Given the description of an element on the screen output the (x, y) to click on. 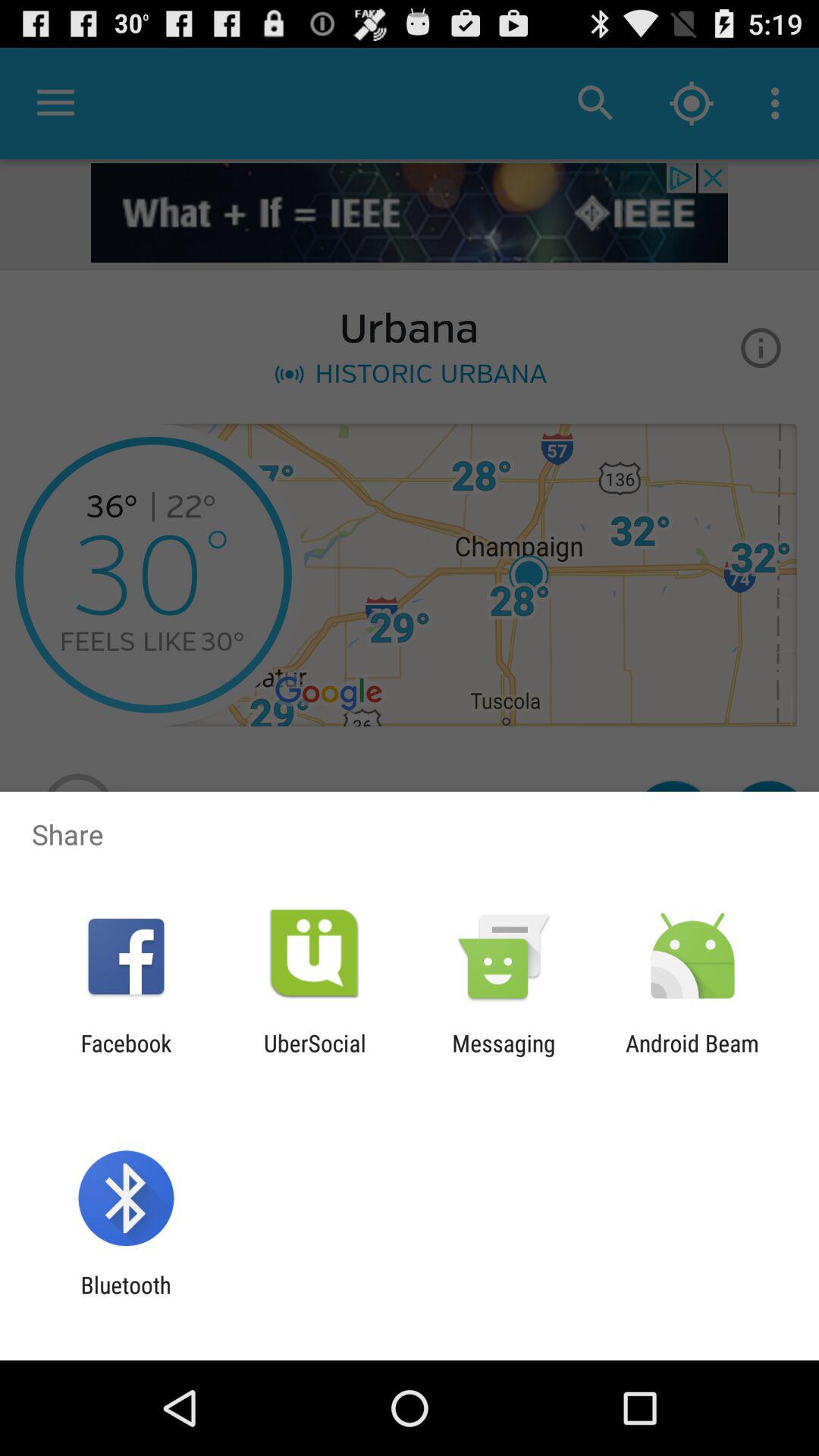
select item to the left of the ubersocial icon (125, 1056)
